Given the description of an element on the screen output the (x, y) to click on. 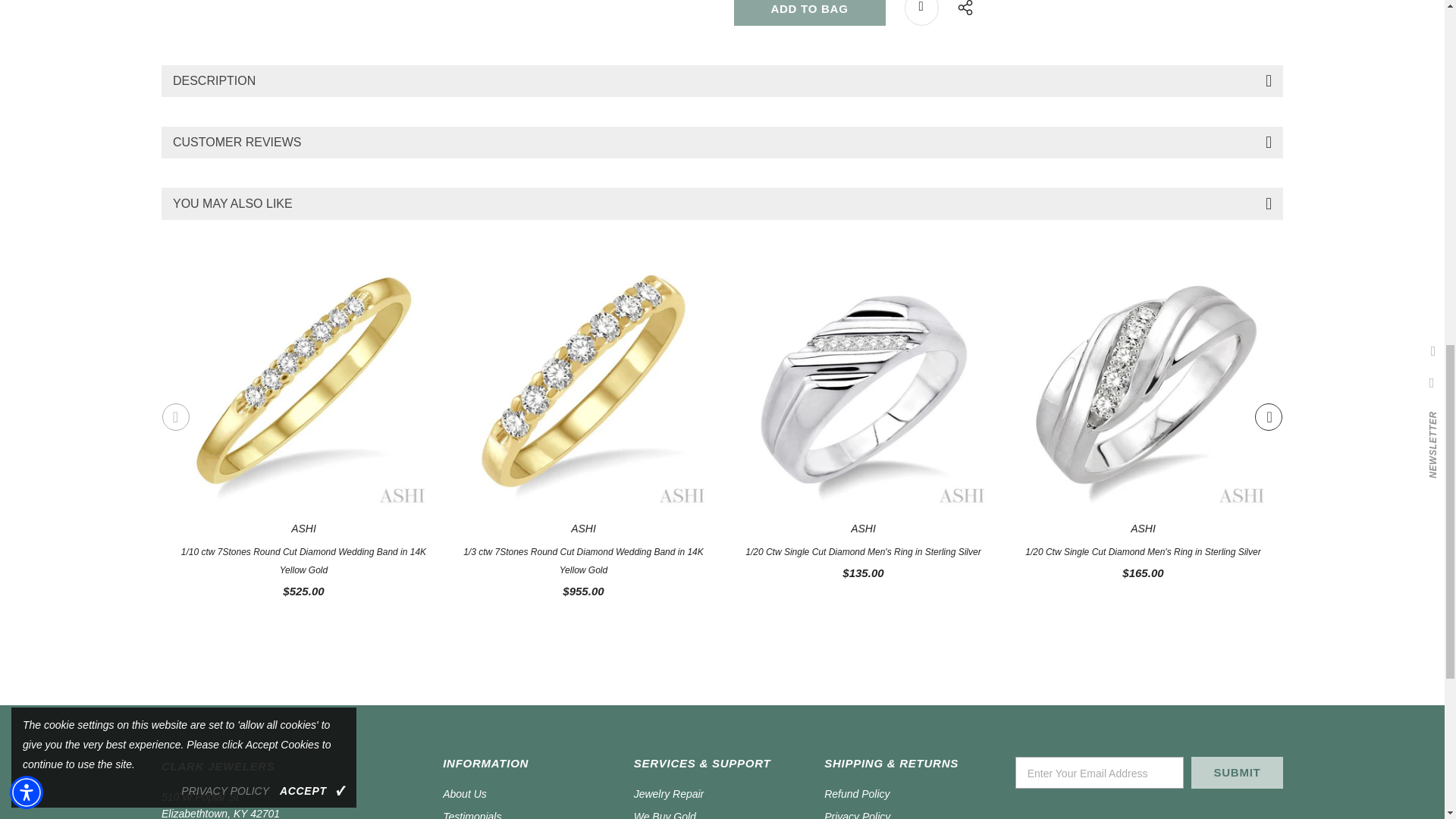
Submit (1236, 772)
Add to Bag (809, 12)
